Given the description of an element on the screen output the (x, y) to click on. 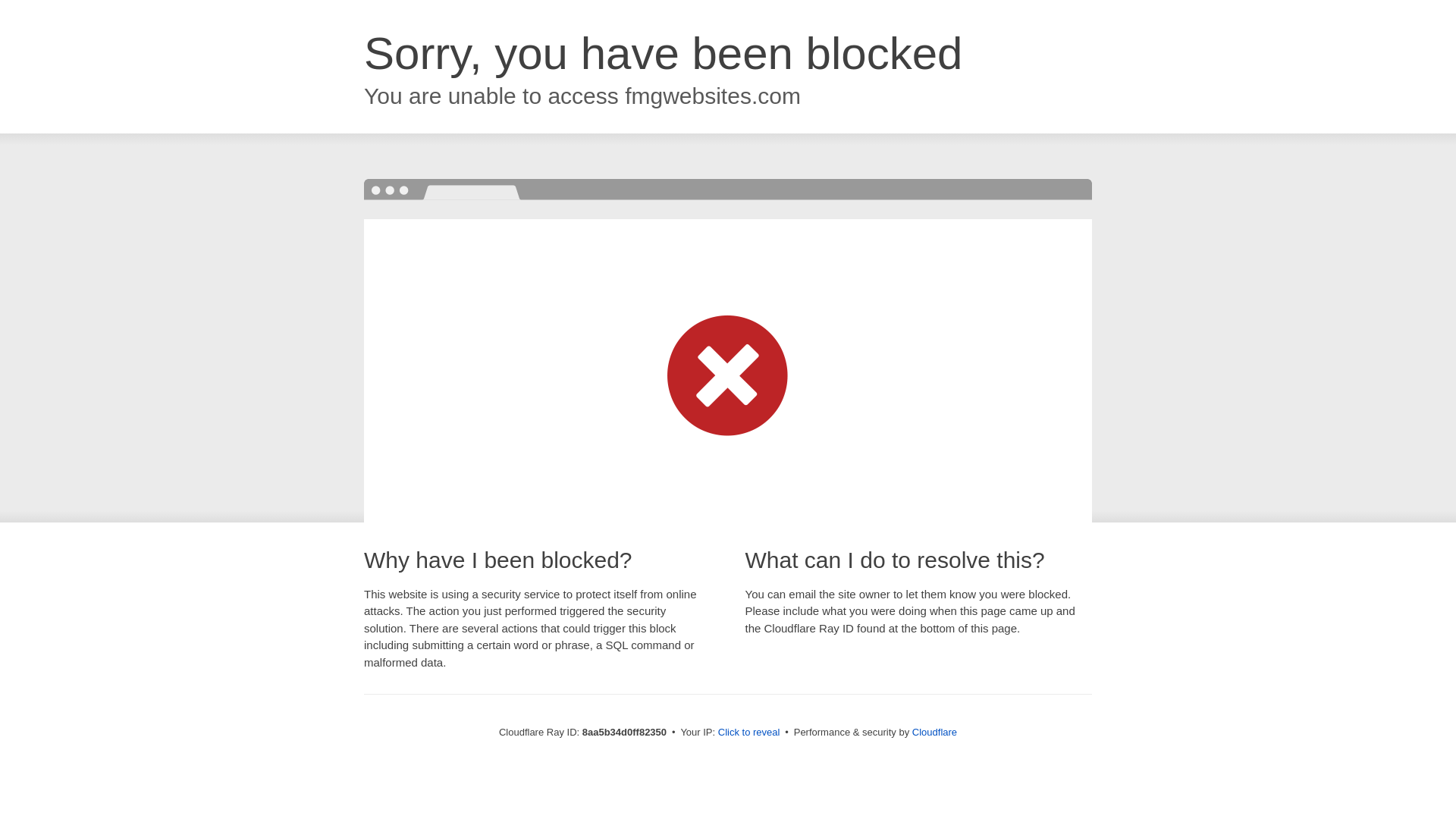
Click to reveal (748, 732)
Cloudflare (934, 731)
